Given the description of an element on the screen output the (x, y) to click on. 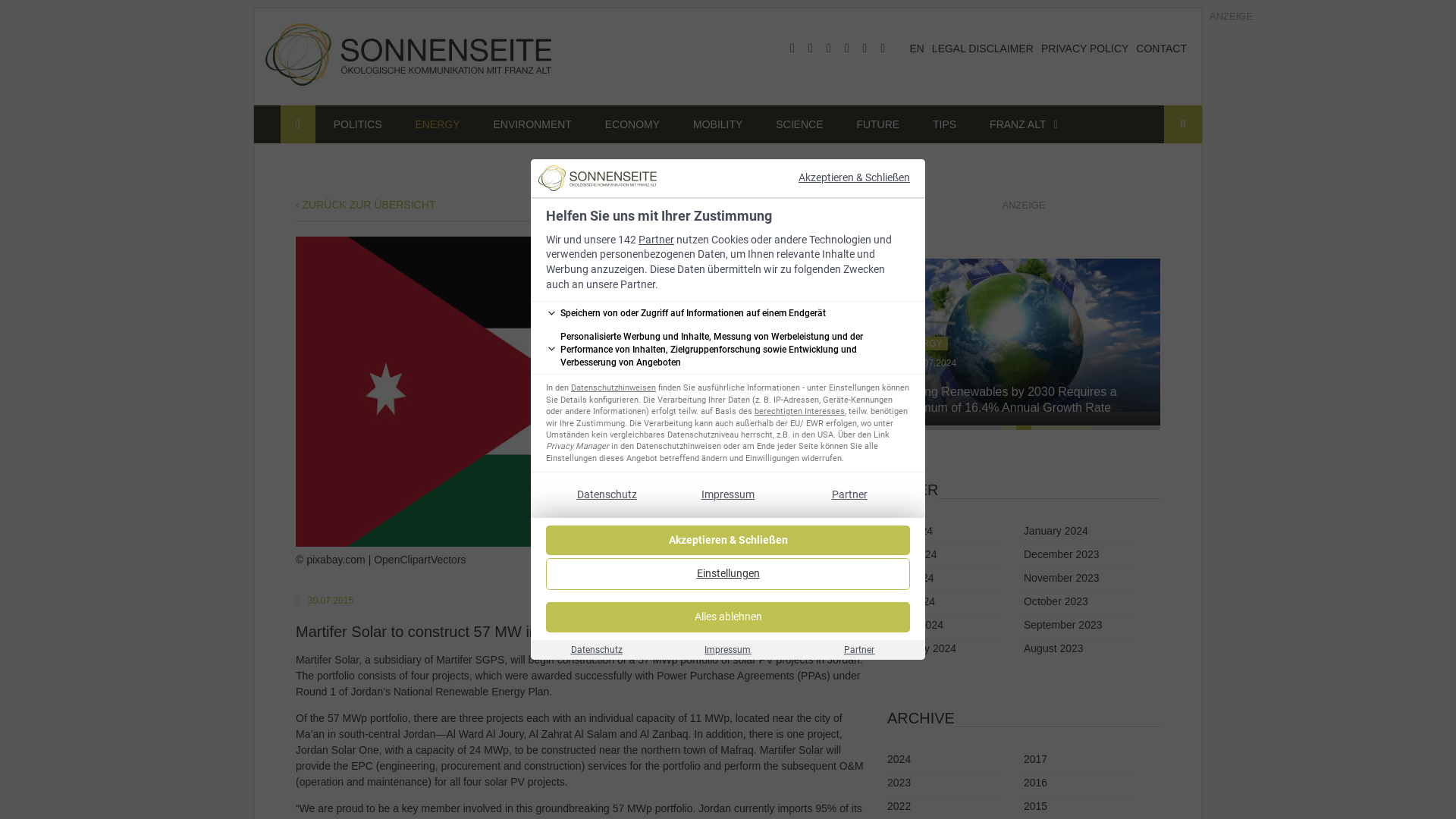
SCIENCE (799, 124)
FUTURE (877, 124)
facebook (791, 48)
EN (915, 48)
ENVIRONMENT (531, 124)
Search (1182, 124)
ENERGY (436, 124)
xing (864, 48)
CONTACT (1160, 48)
FRANZ ALT (1017, 124)
